Given the description of an element on the screen output the (x, y) to click on. 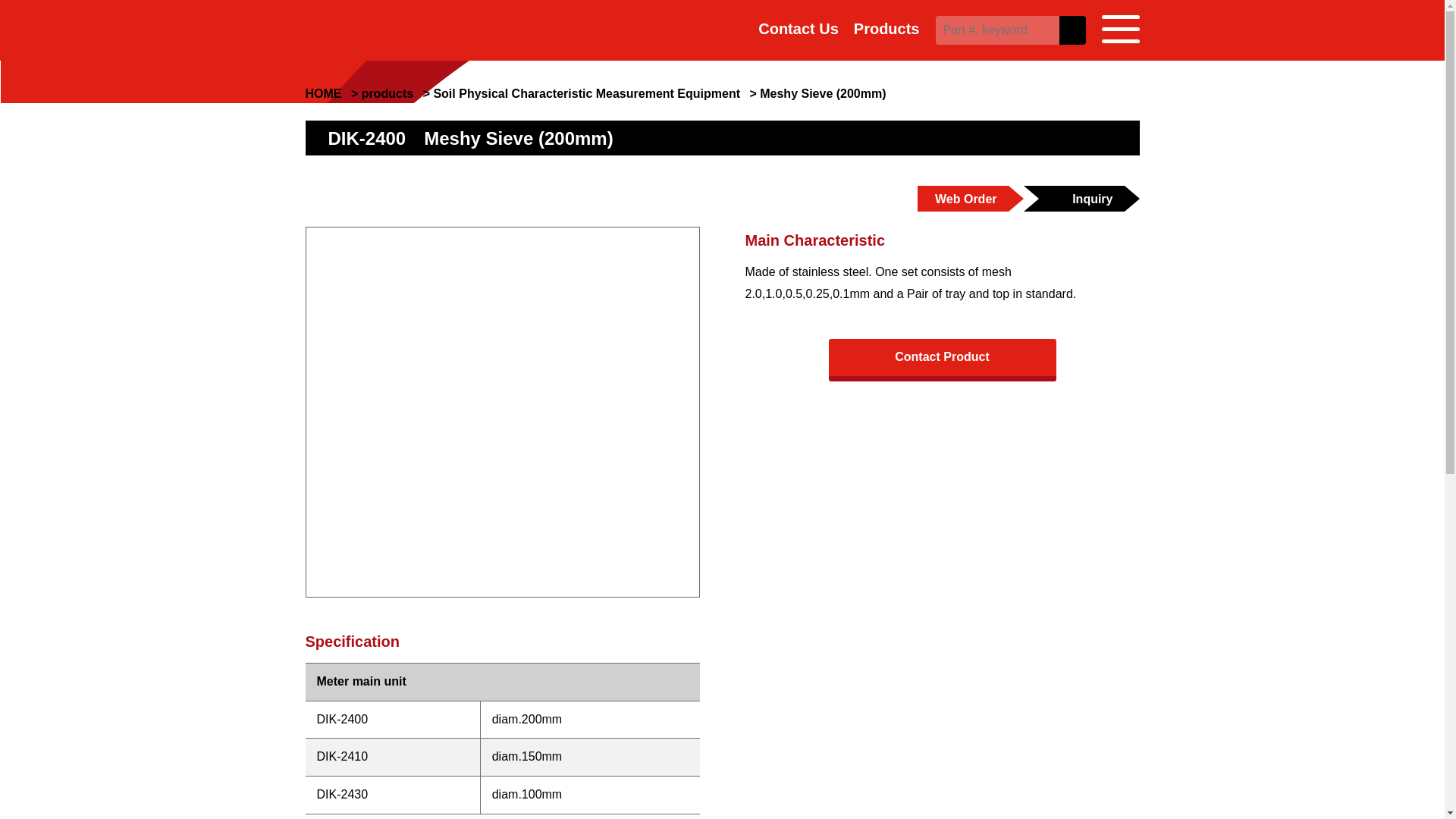
Contact Us (798, 28)
Products (886, 28)
Web Order (963, 198)
Soil Physical Characteristic Measurement Equipment (585, 92)
HOME (322, 92)
Go to products. (387, 92)
Go to Daiki Rika Kogyo Co., Ltd.. (322, 92)
products (387, 92)
Inquiry (1073, 198)
Contact Product (941, 360)
